Given the description of an element on the screen output the (x, y) to click on. 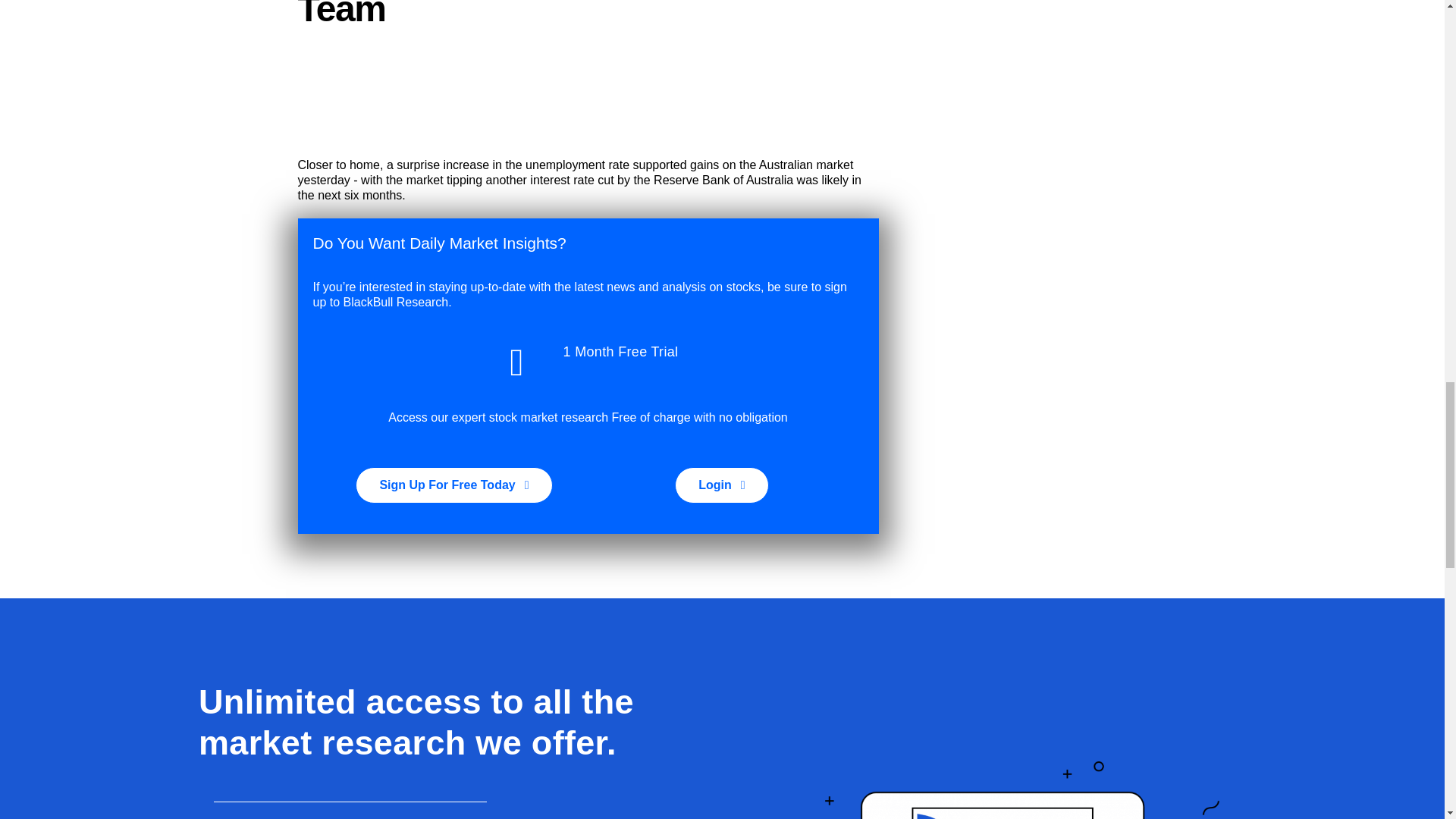
Sign Up For Free Today (453, 484)
Login (721, 484)
